Given the description of an element on the screen output the (x, y) to click on. 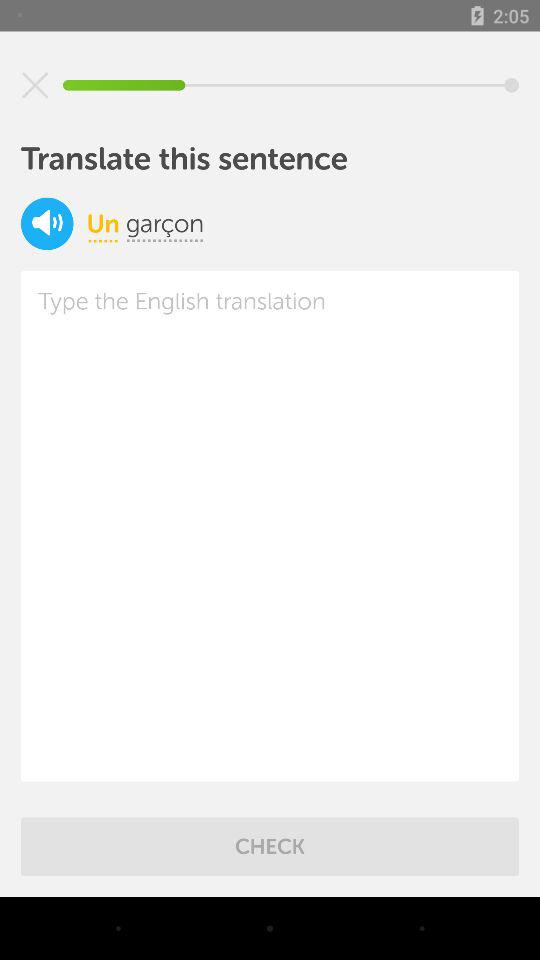
writing fied (270, 526)
